Given the description of an element on the screen output the (x, y) to click on. 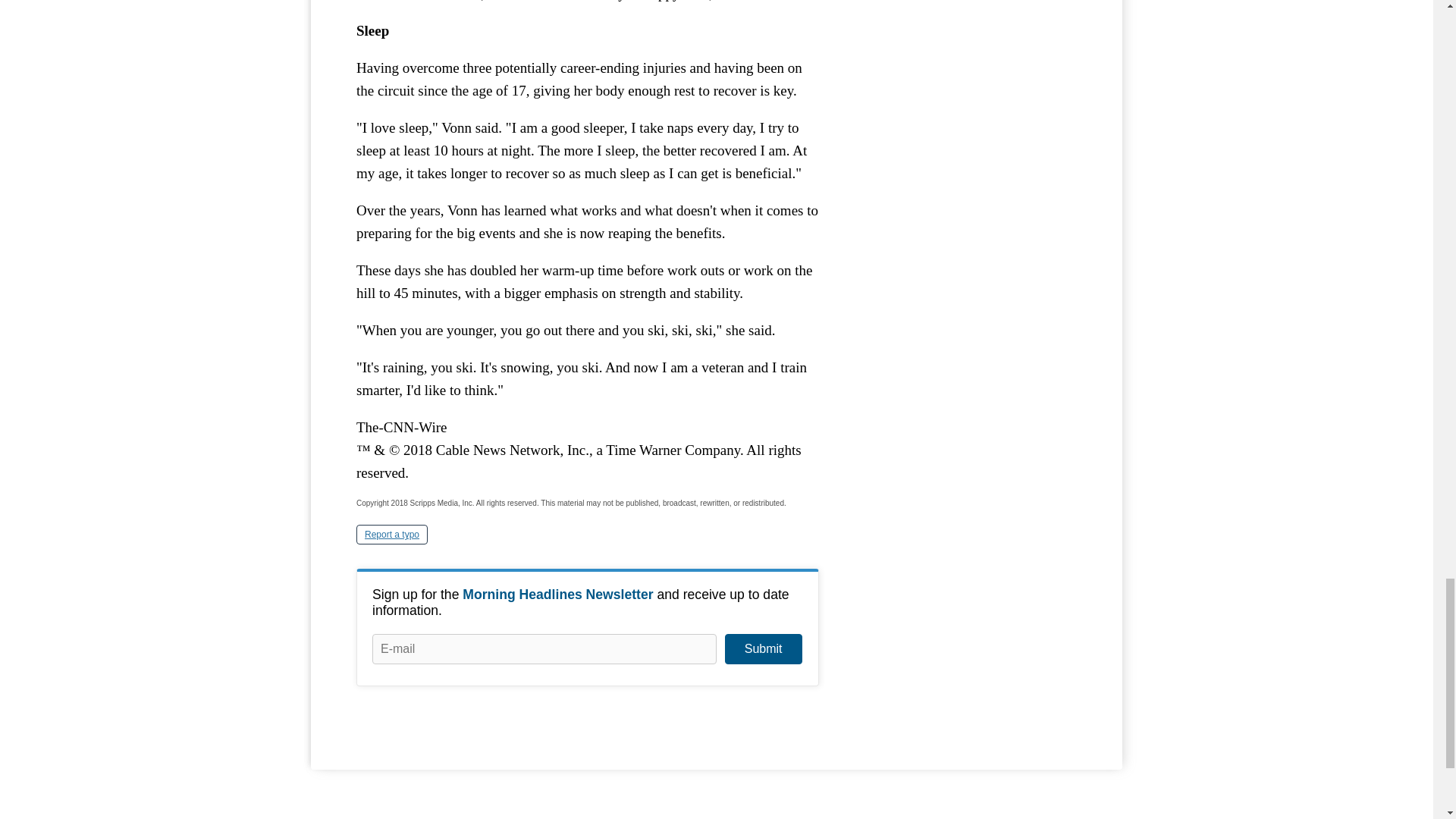
Submit (763, 648)
